Given the description of an element on the screen output the (x, y) to click on. 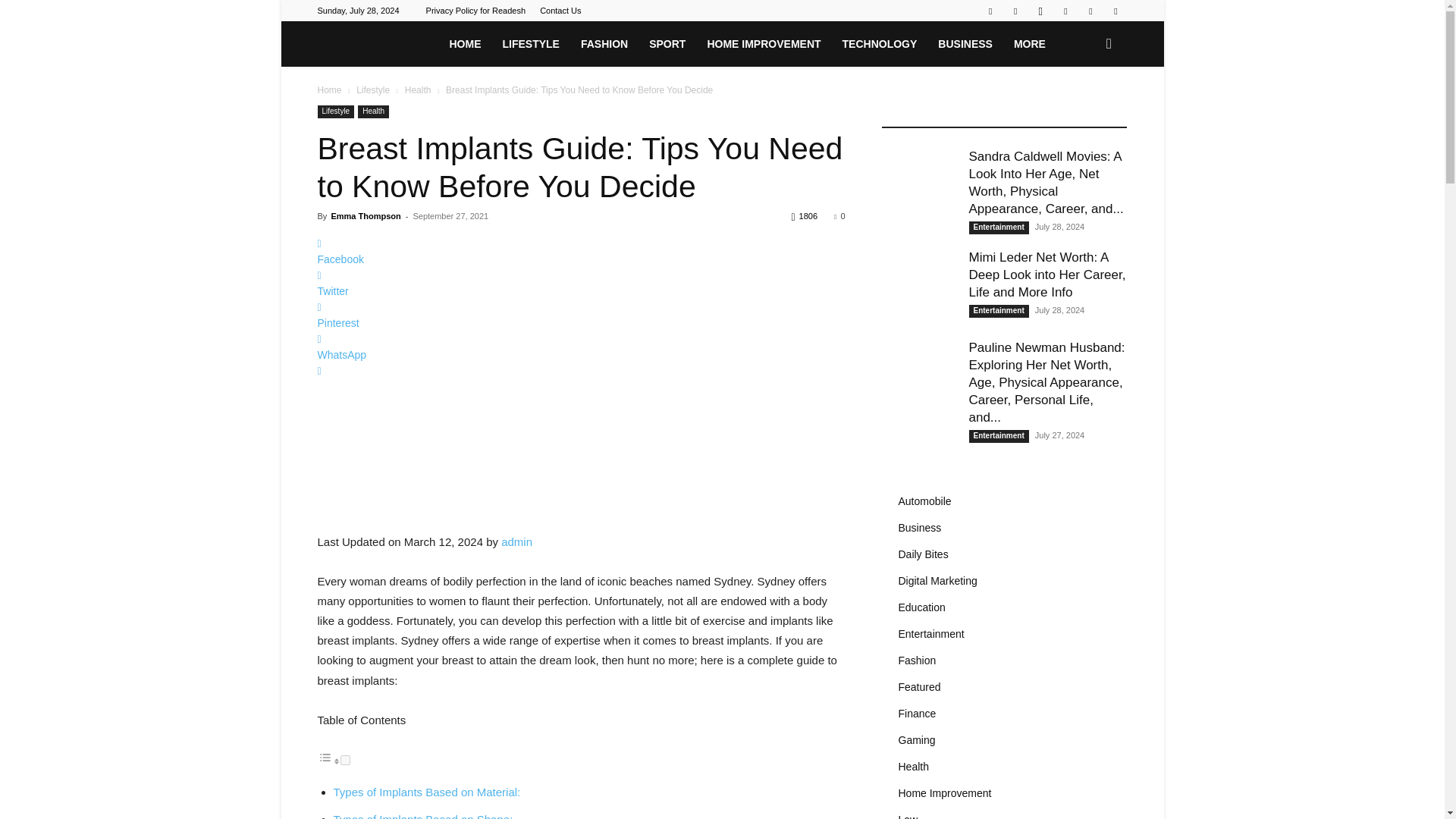
Instagram (1040, 10)
VKontakte (1114, 10)
on (344, 759)
Behance (989, 10)
Twitter (1065, 10)
Readish Logo (370, 44)
Facebook (1015, 10)
Privacy Policy for Readesh (475, 10)
Vimeo (1090, 10)
Contact Us (560, 10)
